Given the description of an element on the screen output the (x, y) to click on. 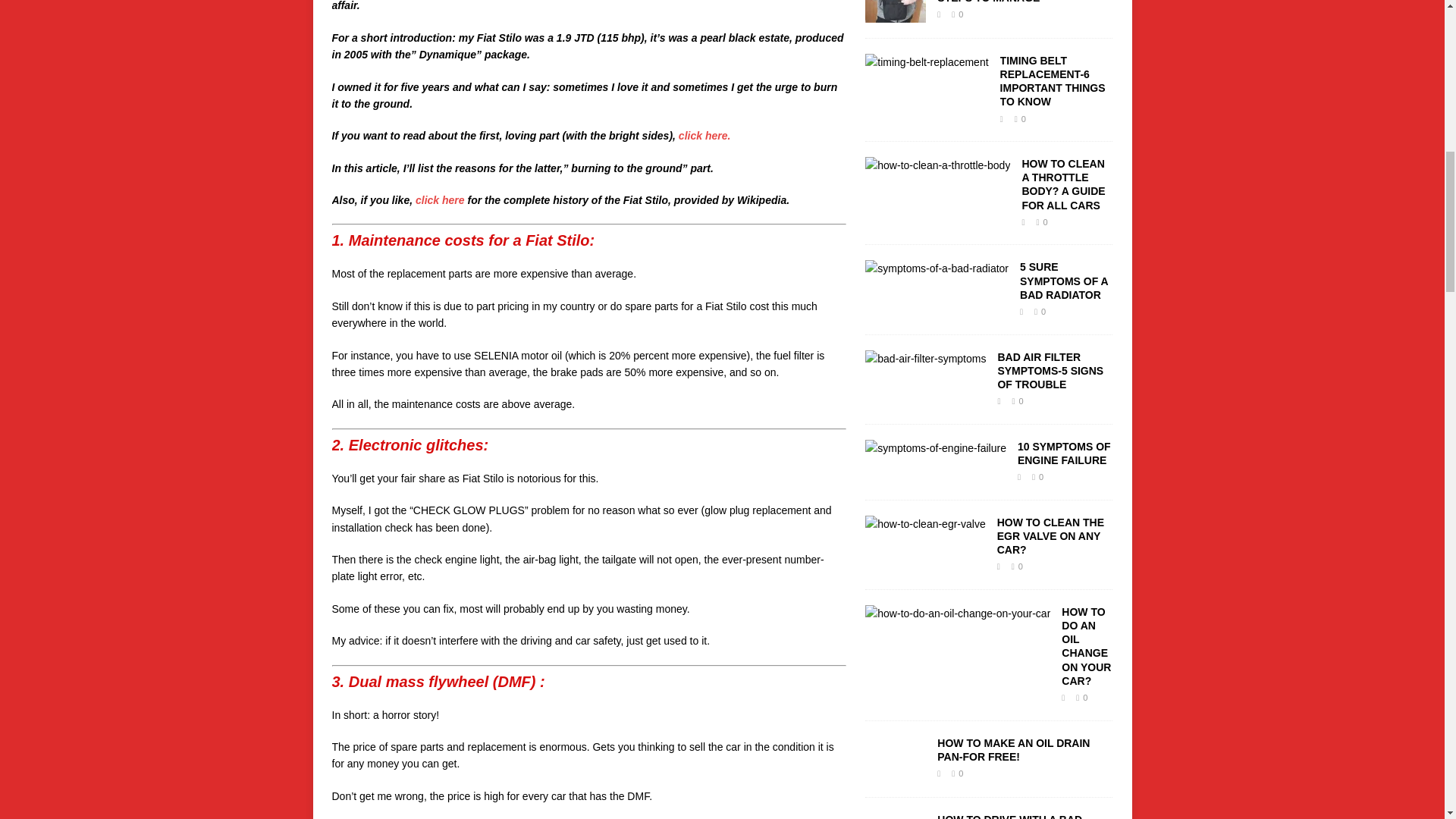
FORGOT YOUR SMARTPHONE? 5 STEPS TO MANAGE (895, 13)
FORGOT YOUR SMARTPHONE? 5 STEPS TO MANAGE (1023, 2)
click here (439, 200)
click here. (702, 135)
